Given the description of an element on the screen output the (x, y) to click on. 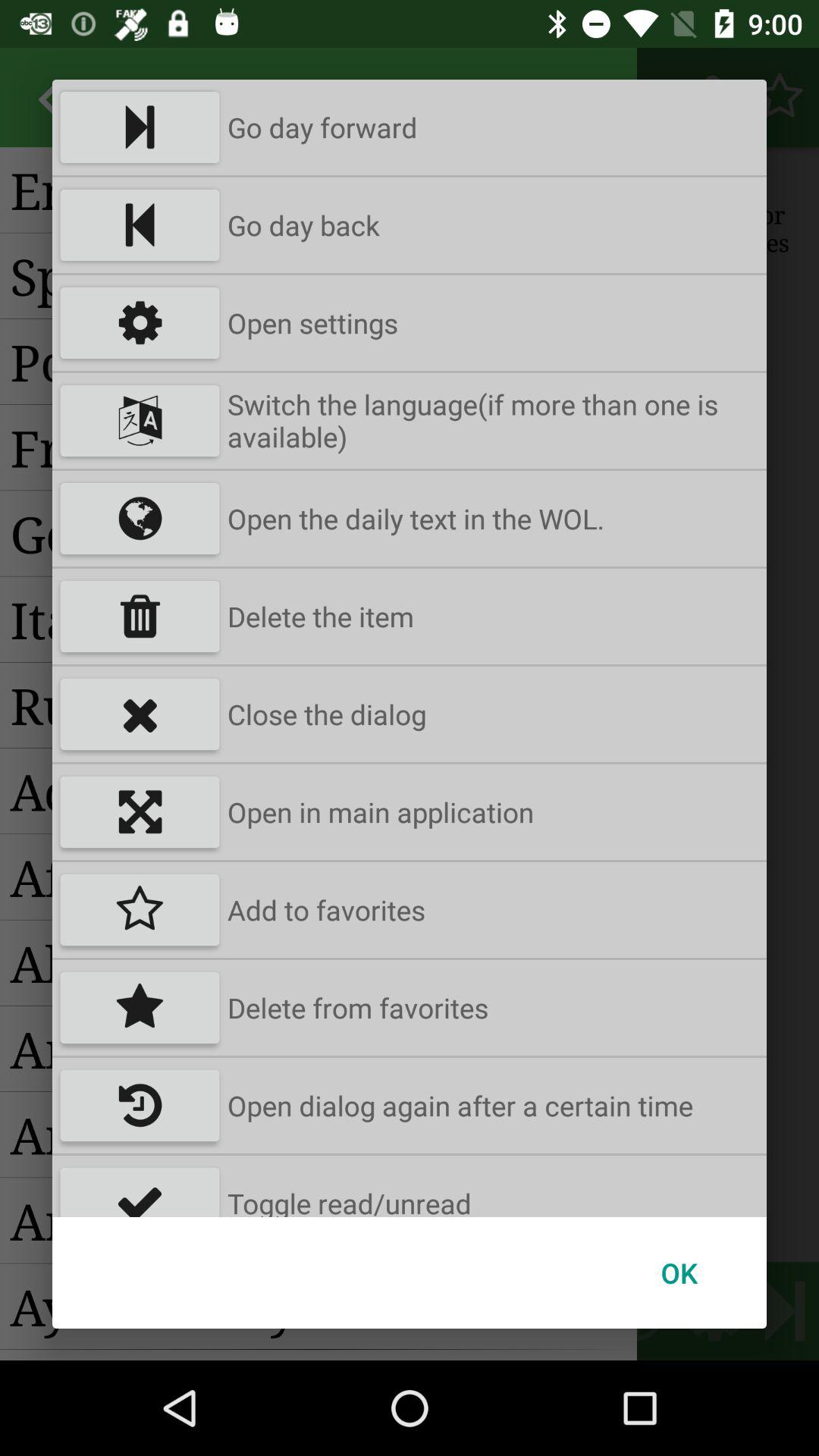
choose icon next to the open the daily icon (139, 518)
